Given the description of an element on the screen output the (x, y) to click on. 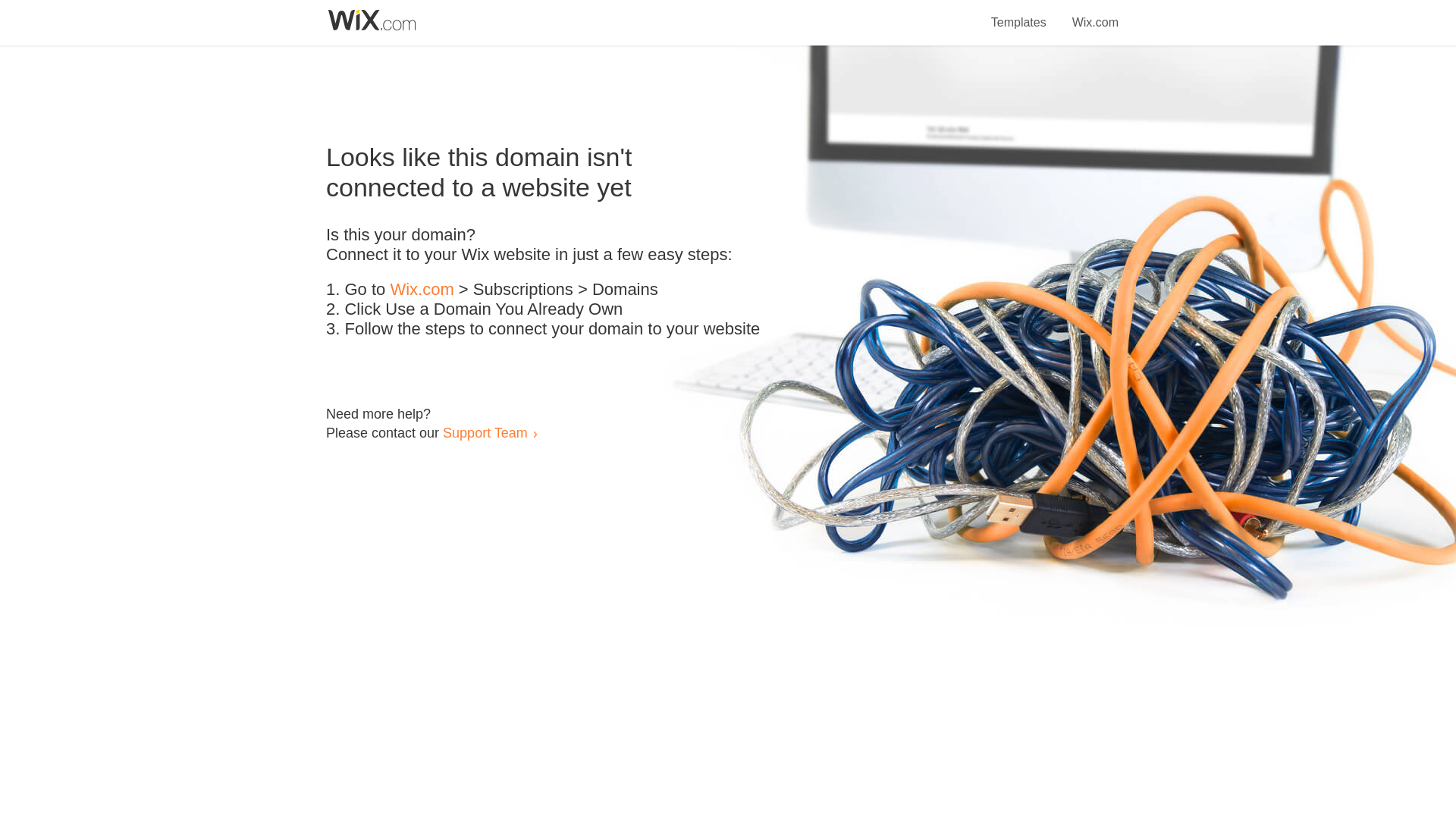
Templates (1018, 14)
Wix.com (1095, 14)
Wix.com (421, 289)
Support Team (484, 432)
